Given the description of an element on the screen output the (x, y) to click on. 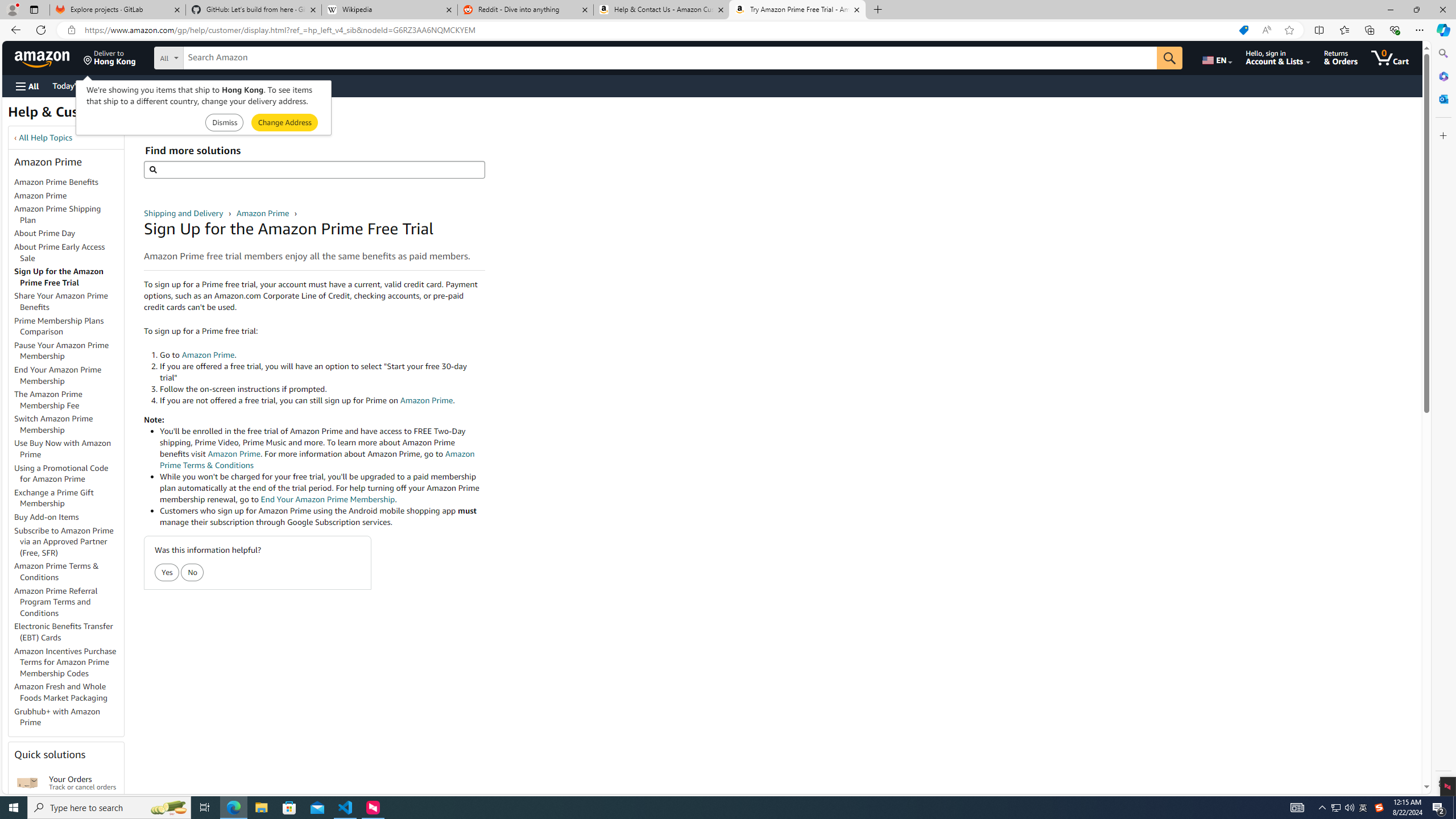
Share Your Amazon Prime Benefits (68, 301)
Choose a language for shopping. (1216, 57)
Help & Customer Service (87, 114)
Shopping in Microsoft Edge (1243, 29)
Follow the on-screen instructions if prompted. (322, 389)
Open Menu (26, 86)
Your Orders (27, 782)
End Your Amazon Prime Membership (68, 375)
Shipping and Delivery  (184, 213)
Amazon Prime Referral Program Terms and Conditions (55, 601)
Switch Amazon Prime Membership (68, 424)
